Given the description of an element on the screen output the (x, y) to click on. 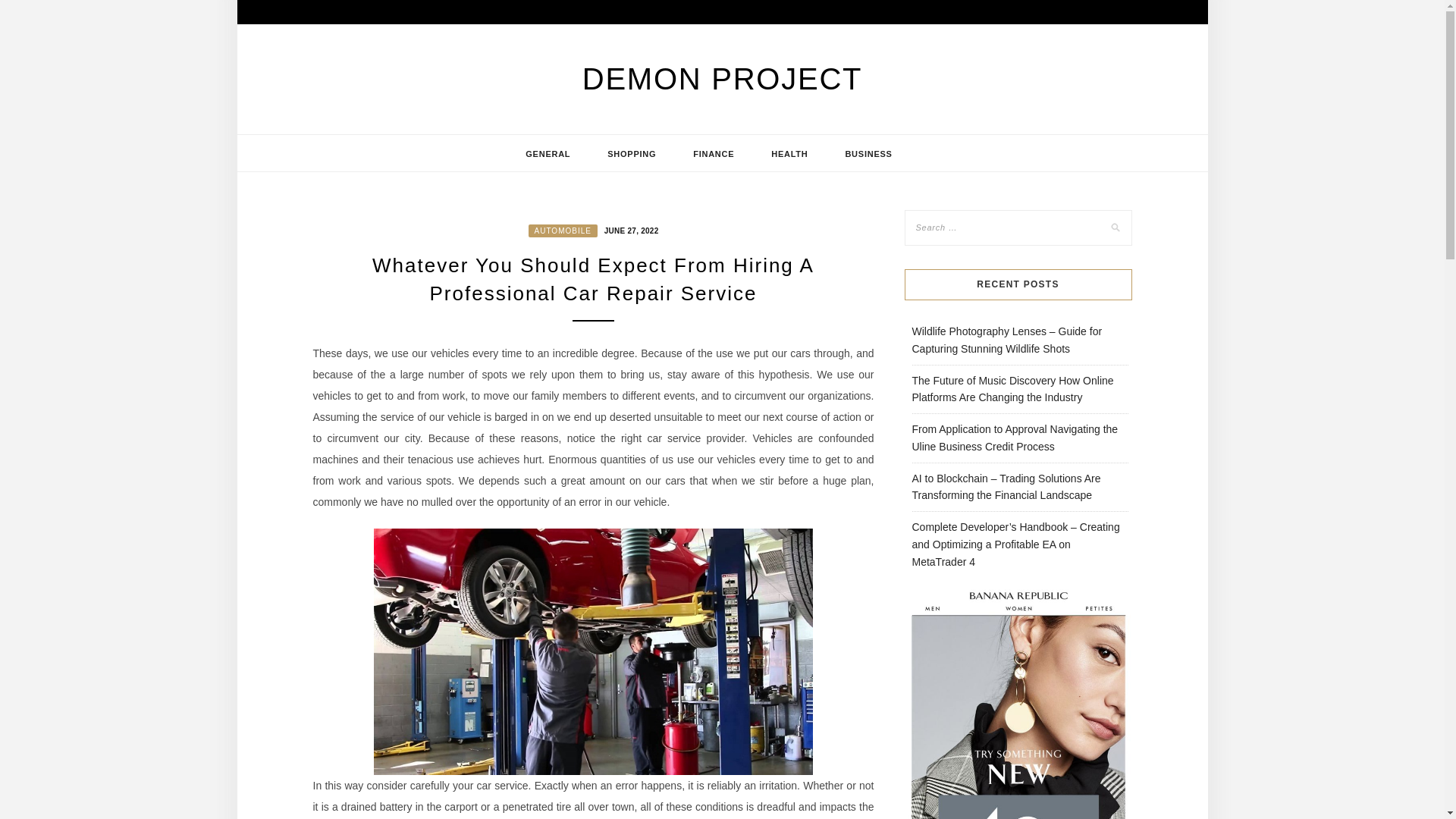
HEALTH (788, 153)
GENERAL (547, 153)
AUTOMOBILE (562, 230)
SHOPPING (631, 153)
FINANCE (713, 153)
BUSINESS (868, 153)
DEMON PROJECT (721, 78)
Search (28, 11)
JUNE 27, 2022 (629, 229)
